Given the description of an element on the screen output the (x, y) to click on. 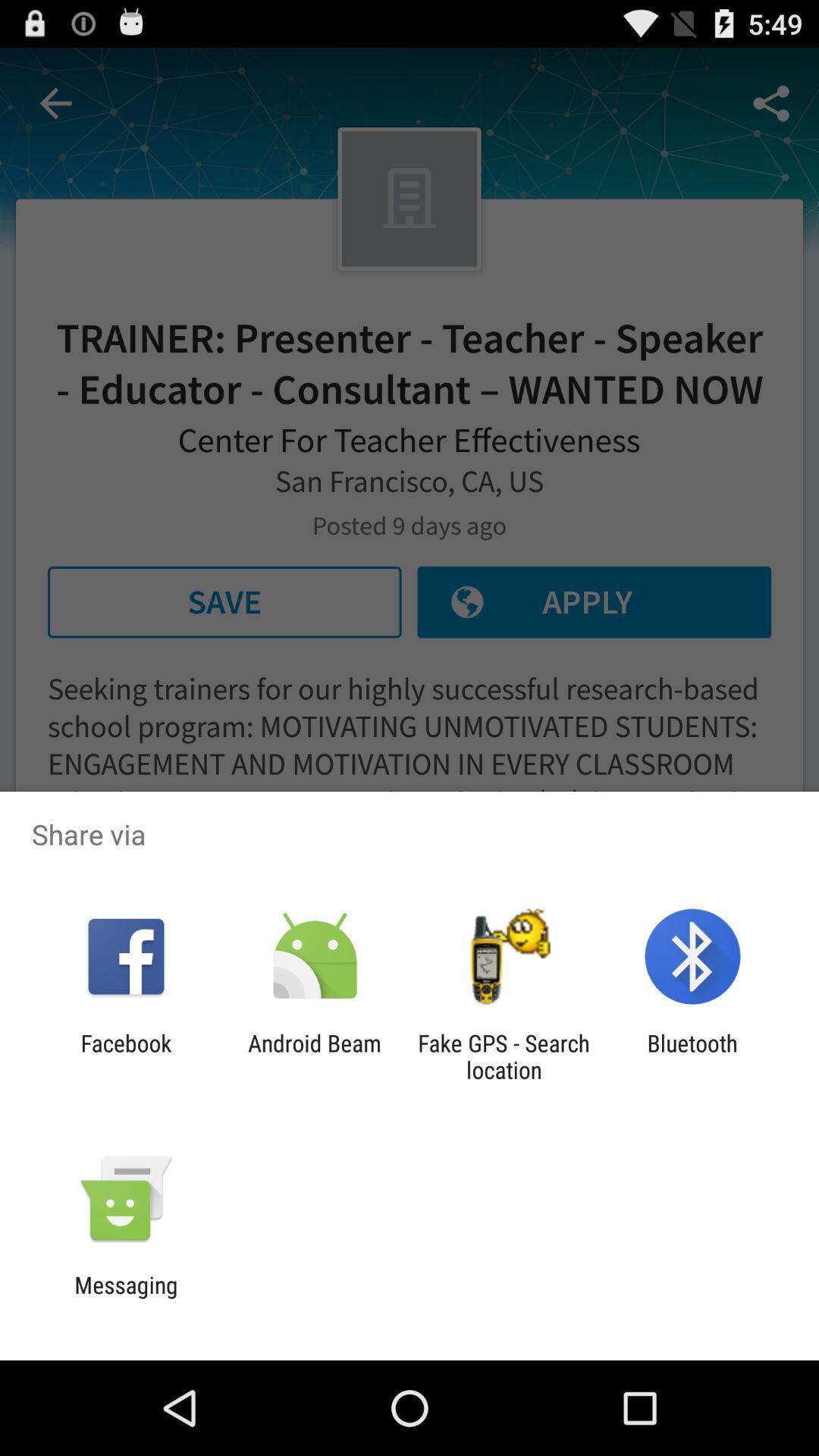
turn on item next to android beam app (125, 1056)
